Given the description of an element on the screen output the (x, y) to click on. 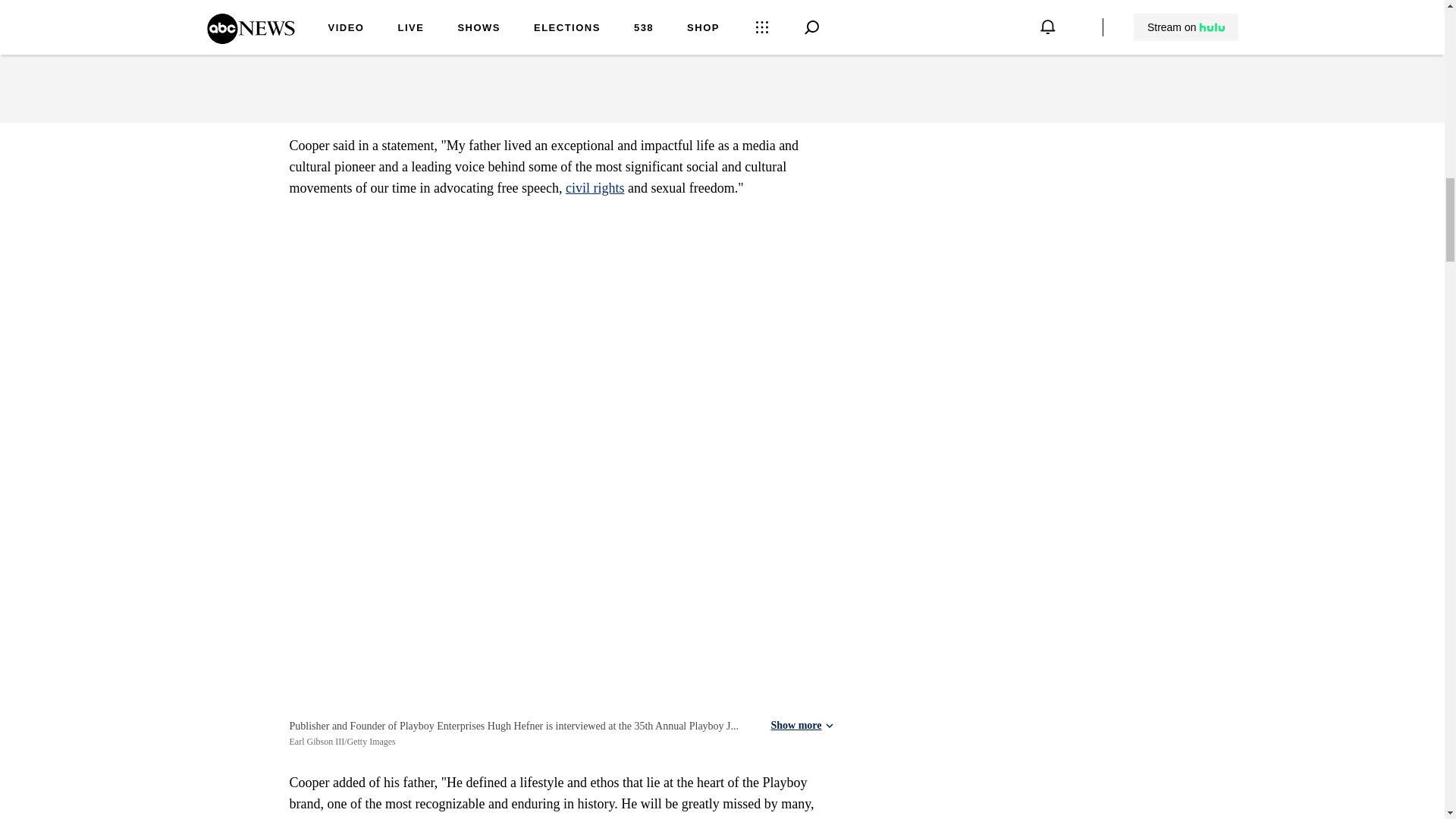
civil rights (595, 187)
Show More (802, 58)
Show more (801, 725)
